Given the description of an element on the screen output the (x, y) to click on. 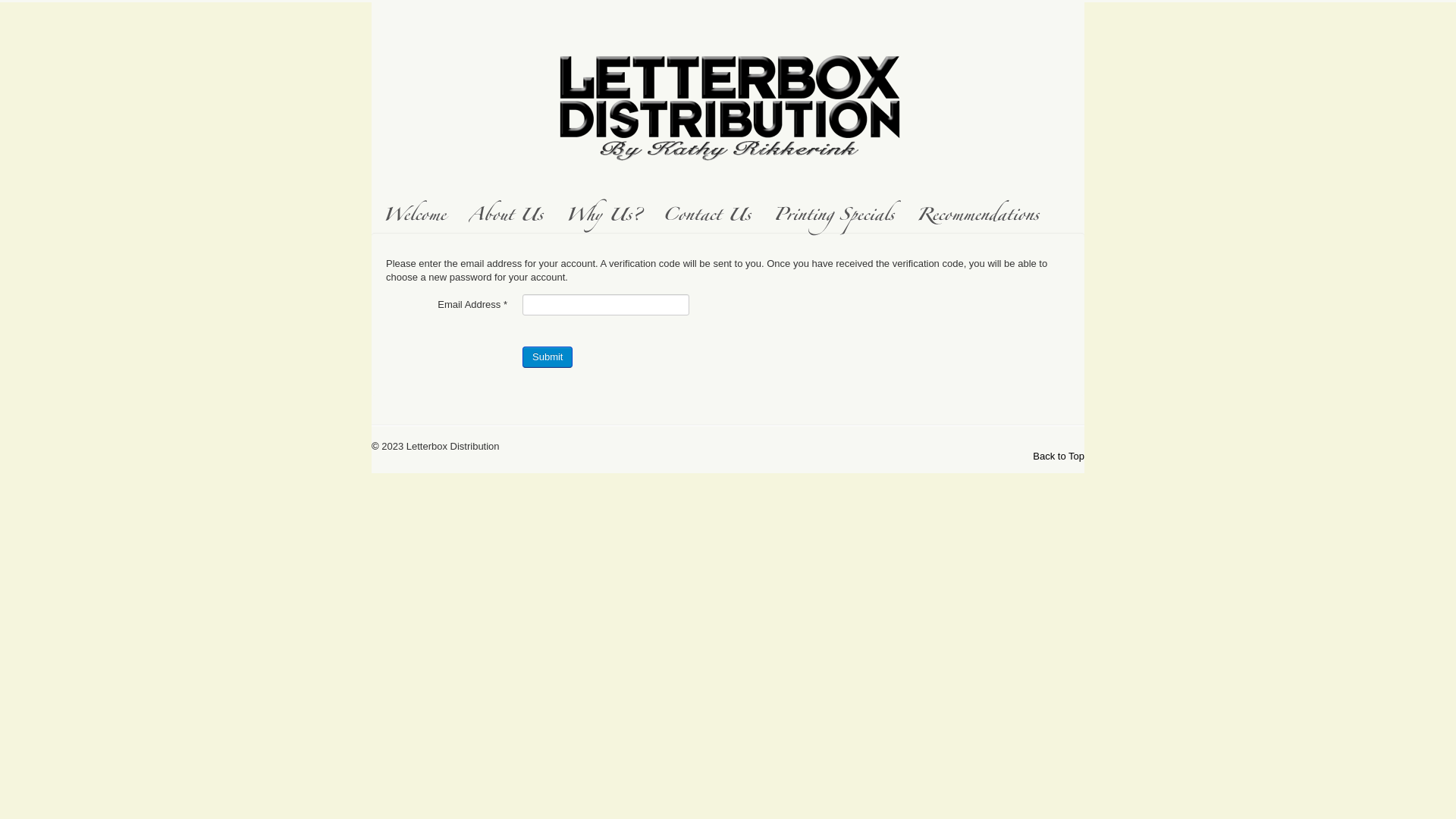
About Us Element type: text (505, 217)
Contact Us Element type: text (706, 217)
Recommendations Element type: text (977, 217)
Logo Element type: hover (727, 102)
Welcome Element type: text (414, 217)
Submit Element type: text (547, 356)
Back to Top Element type: text (1058, 455)
Printing Specials Element type: text (833, 217)
Why Us? Element type: text (602, 217)
